Given the description of an element on the screen output the (x, y) to click on. 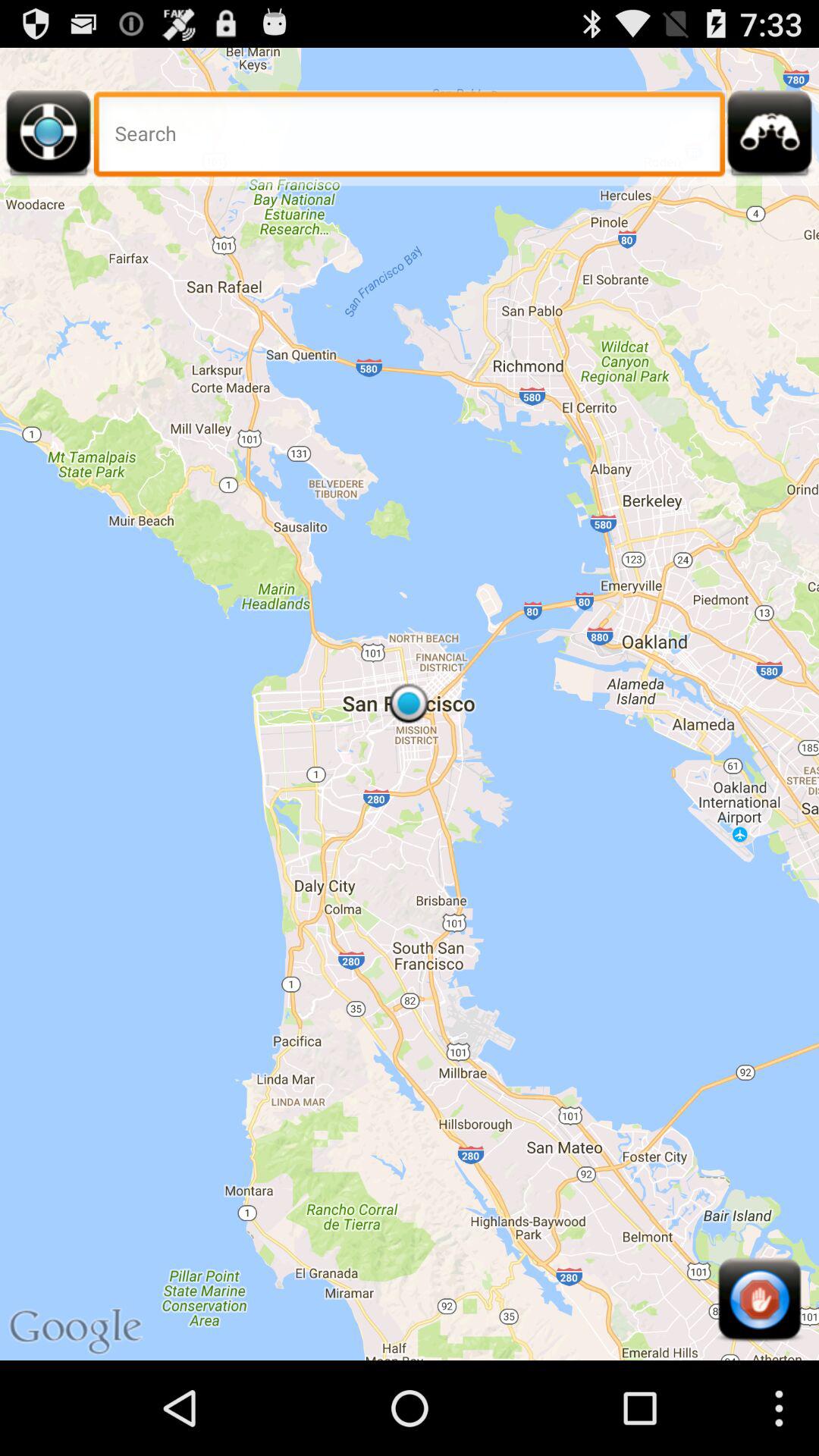
search location (409, 137)
